Given the description of an element on the screen output the (x, y) to click on. 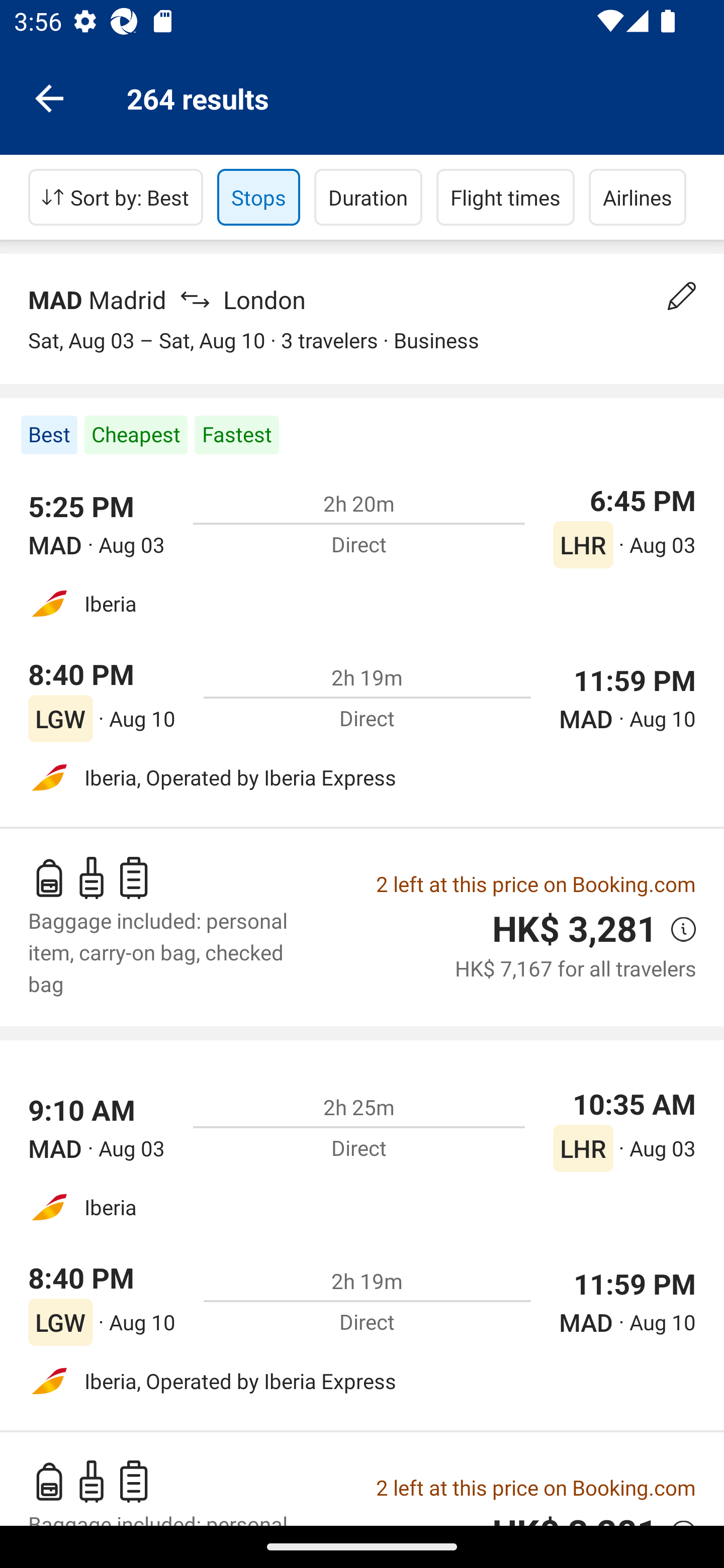
Navigate up (49, 97)
Sort by: Best (115, 197)
Stops (258, 197)
Duration (368, 197)
Flight times (505, 197)
Airlines (637, 197)
Change your search details (681, 296)
HK$ 3,281 (574, 928)
view price details, opens a pop-up (676, 928)
